Given the description of an element on the screen output the (x, y) to click on. 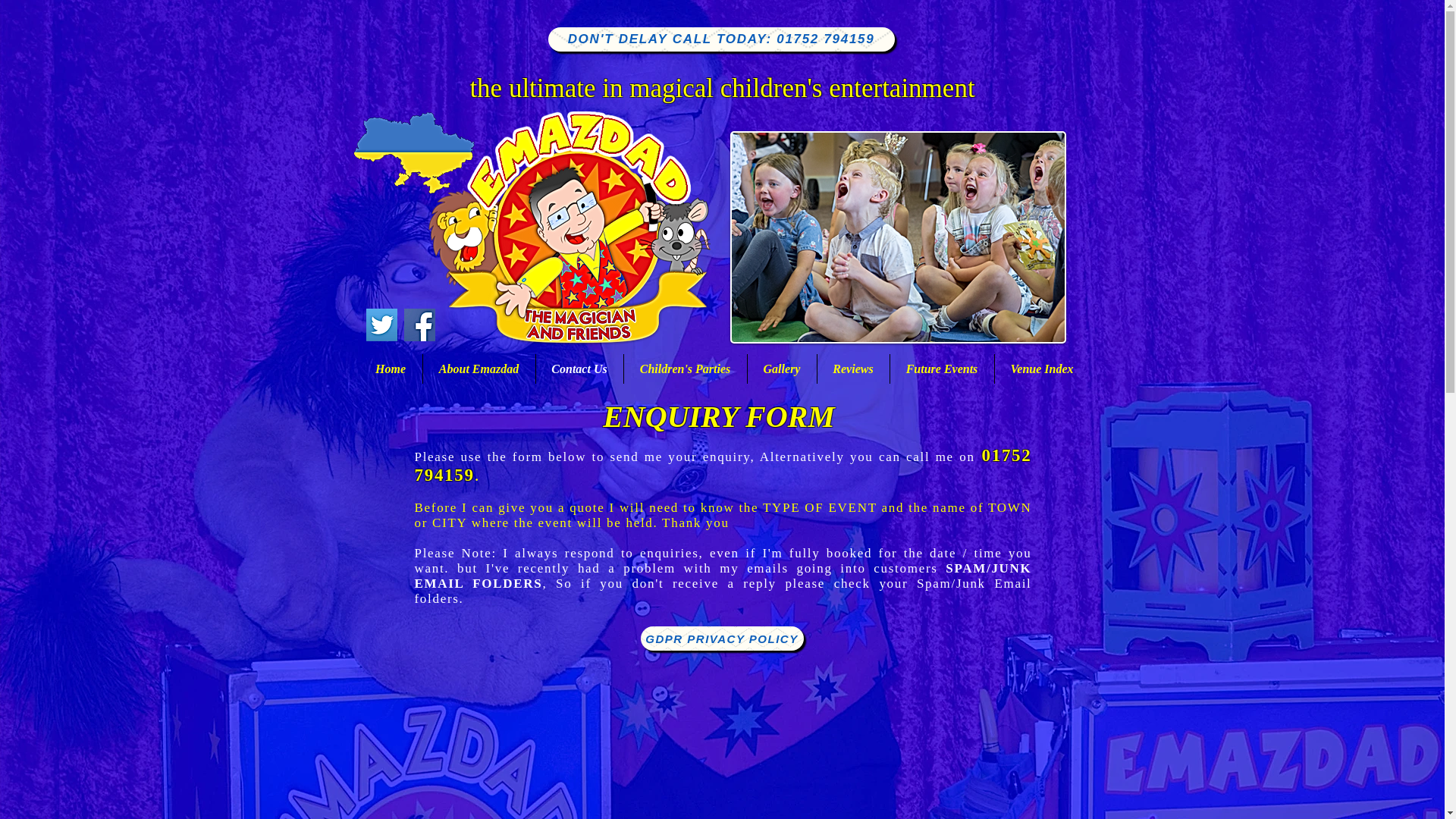
GDPR PRIVACY POLICY (721, 638)
DON'T DELAY CALL TODAY: 01752 794159 (720, 39)
Gallery (782, 368)
Children's Parties (684, 368)
Home (390, 368)
Future Events (941, 368)
About Emazdad (479, 368)
Venue Index (1041, 368)
Emazdad the magicians logo (569, 228)
Children having fun watching Emazdad's magic show (897, 237)
